Given the description of an element on the screen output the (x, y) to click on. 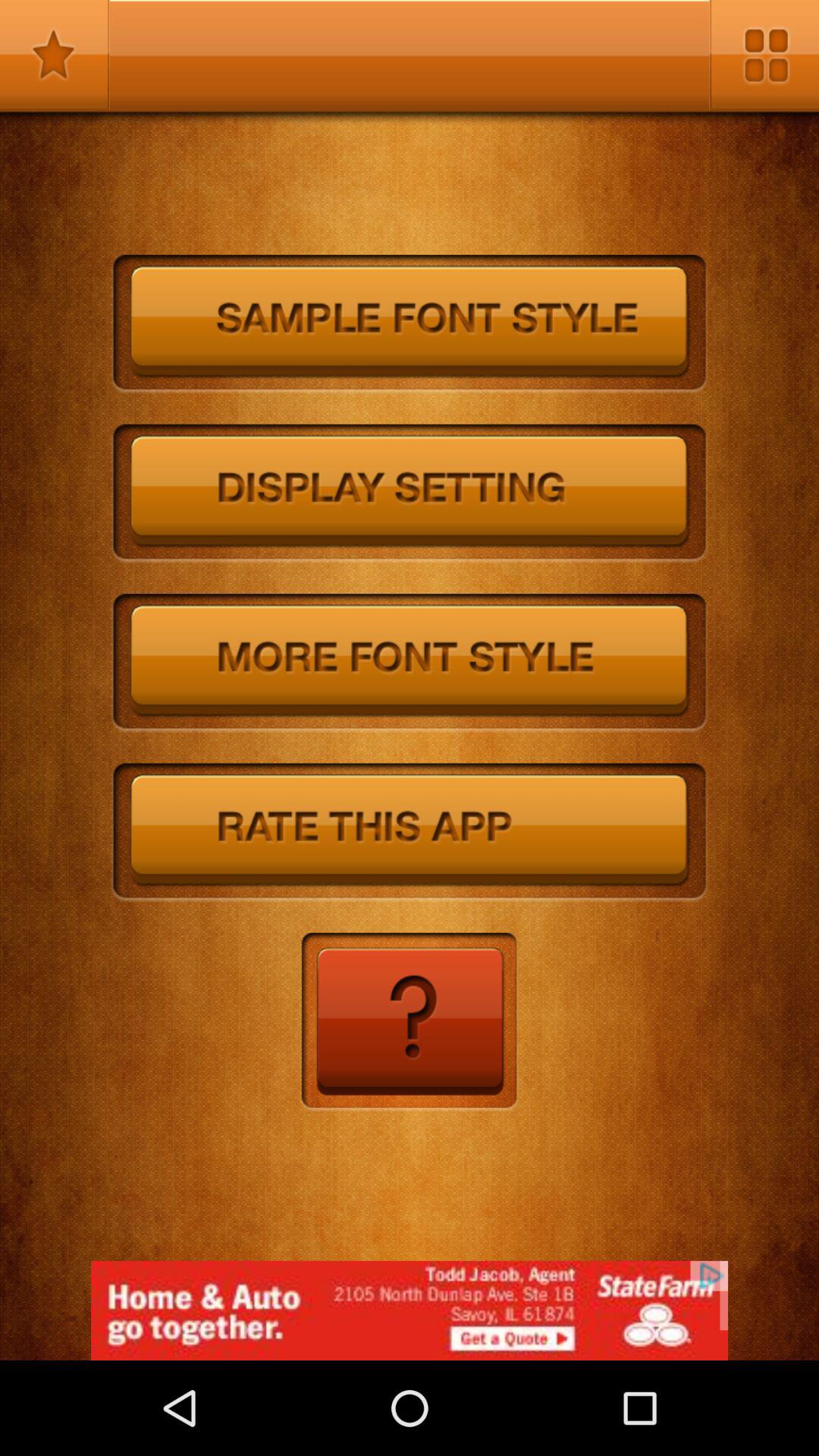
favorite (54, 54)
